Given the description of an element on the screen output the (x, y) to click on. 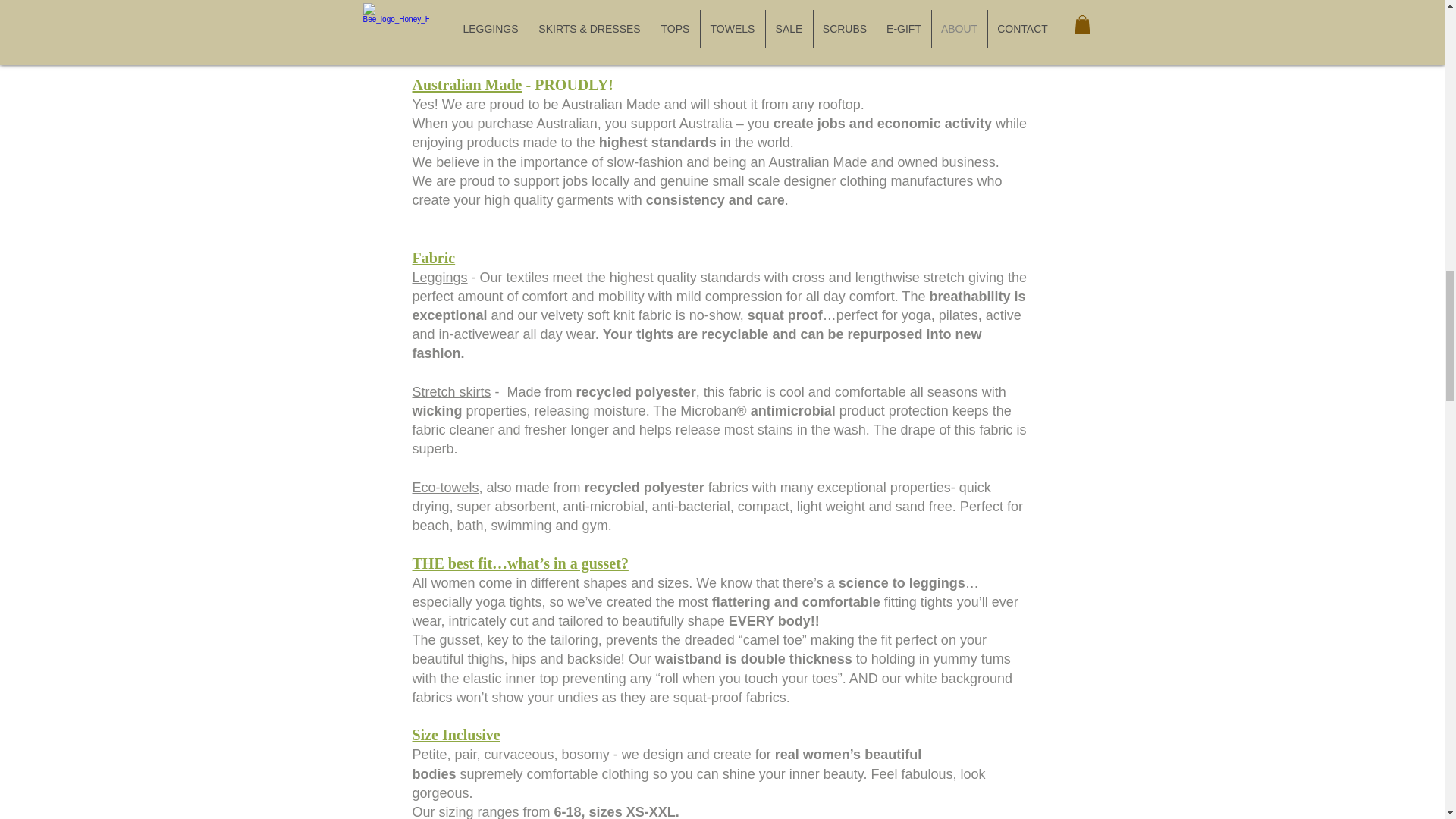
Fabric (433, 258)
Size Inclusive (456, 734)
Leggings (439, 277)
Stretch skirts  (453, 391)
Eco-towels,  (449, 487)
in-activewear (479, 334)
Australian Made (467, 84)
